Given the description of an element on the screen output the (x, y) to click on. 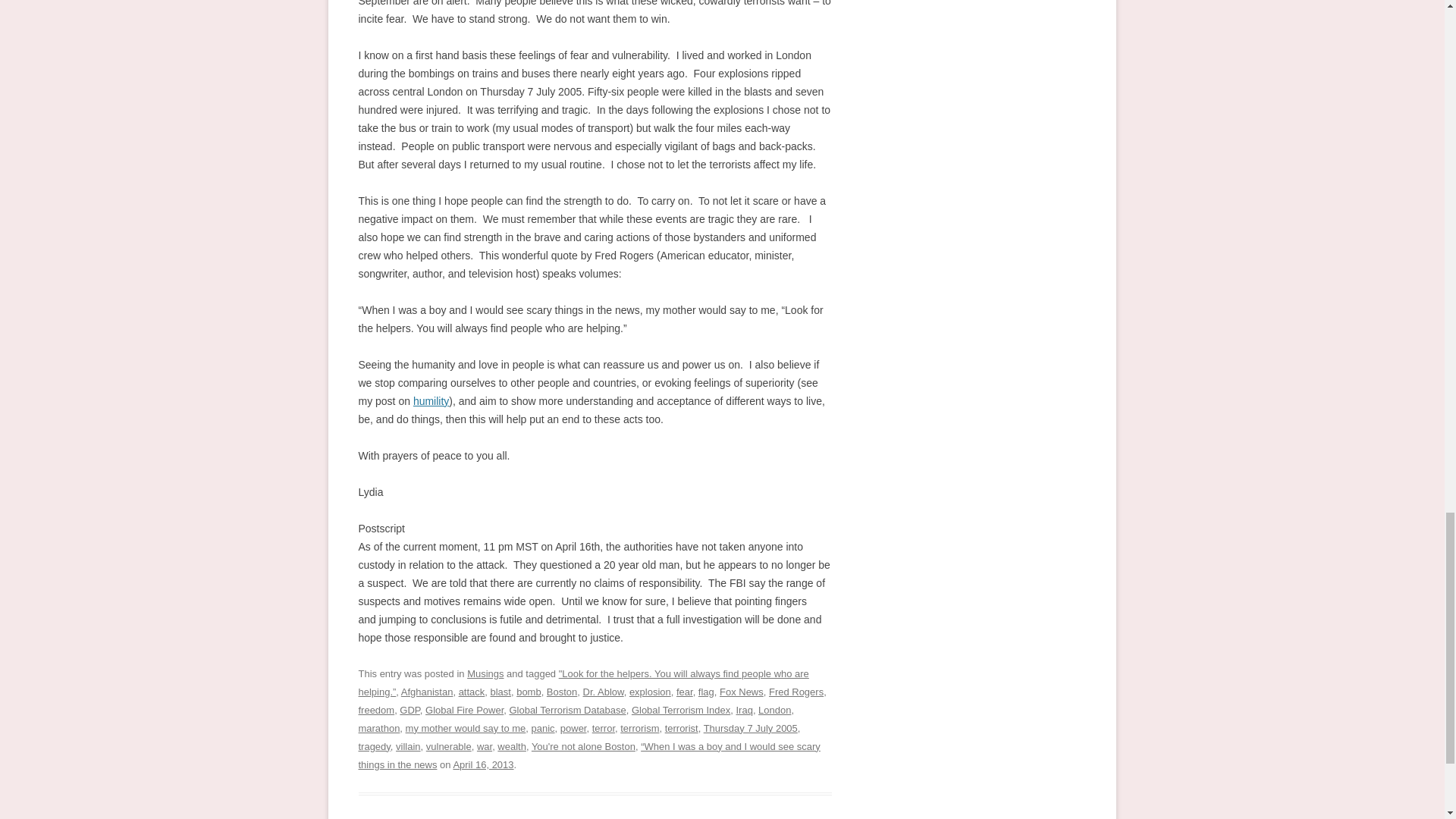
Global Terrorism Database (567, 709)
marathon (378, 727)
Afghanistan (426, 691)
humility (430, 400)
Fox News (740, 691)
flag (706, 691)
terror (603, 727)
my mother would say to me (465, 727)
fear (685, 691)
GDP (408, 709)
freedom (376, 709)
3:19 pm (482, 764)
Global Terrorism Index (680, 709)
Musings (485, 673)
Boston (561, 691)
